Given the description of an element on the screen output the (x, y) to click on. 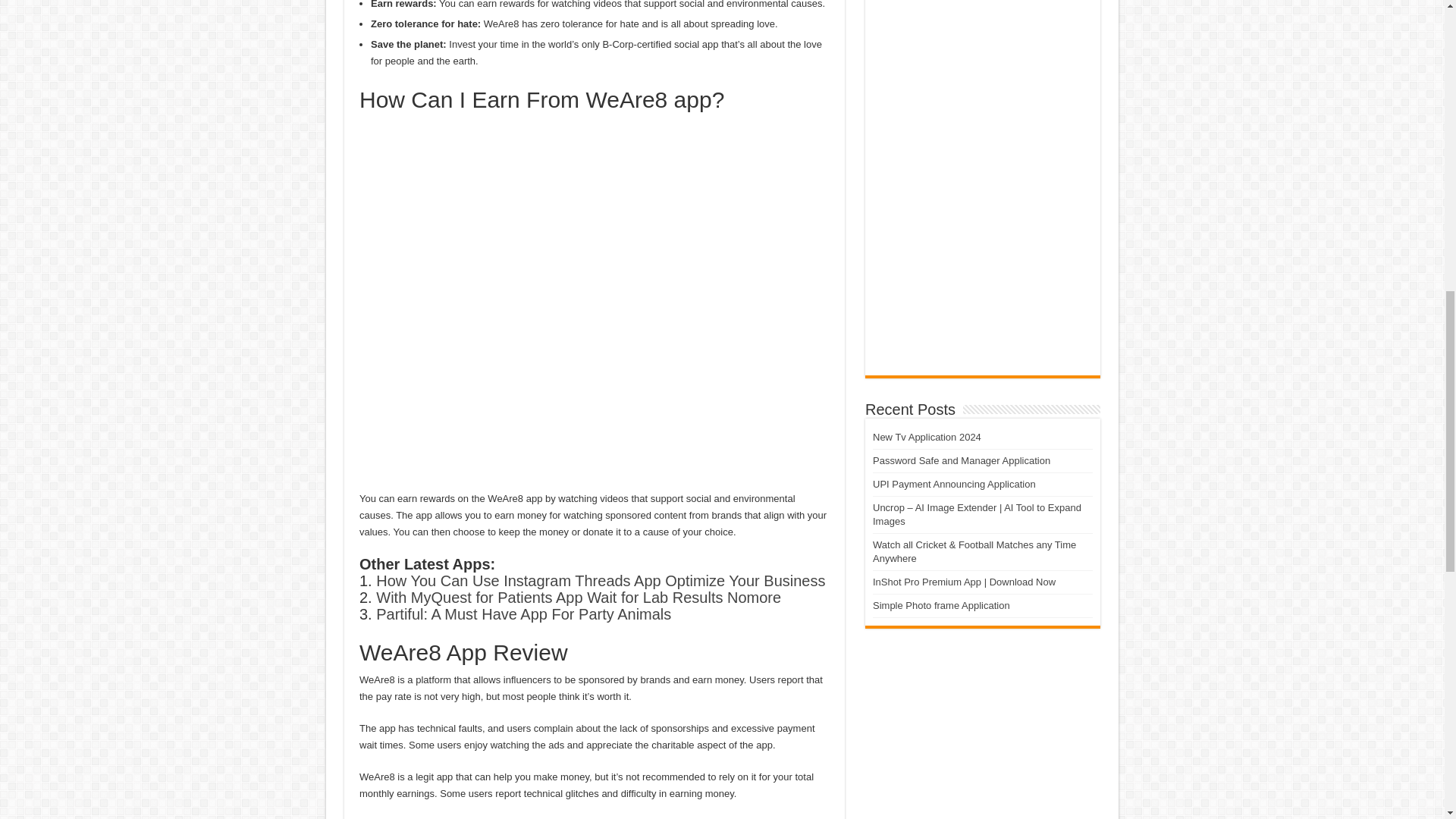
Partiful: A Must Have App For Party Animals (523, 614)
How You Can Use Instagram Threads App Optimize Your Business (600, 580)
UPI Payment Announcing Application (953, 483)
Advertisement (982, 177)
Password Safe and Manager Application (960, 460)
New Tv Application 2024 (926, 437)
Scroll To Top (1421, 60)
With MyQuest for Patients App Wait for Lab Results Nomore (577, 597)
